Given the description of an element on the screen output the (x, y) to click on. 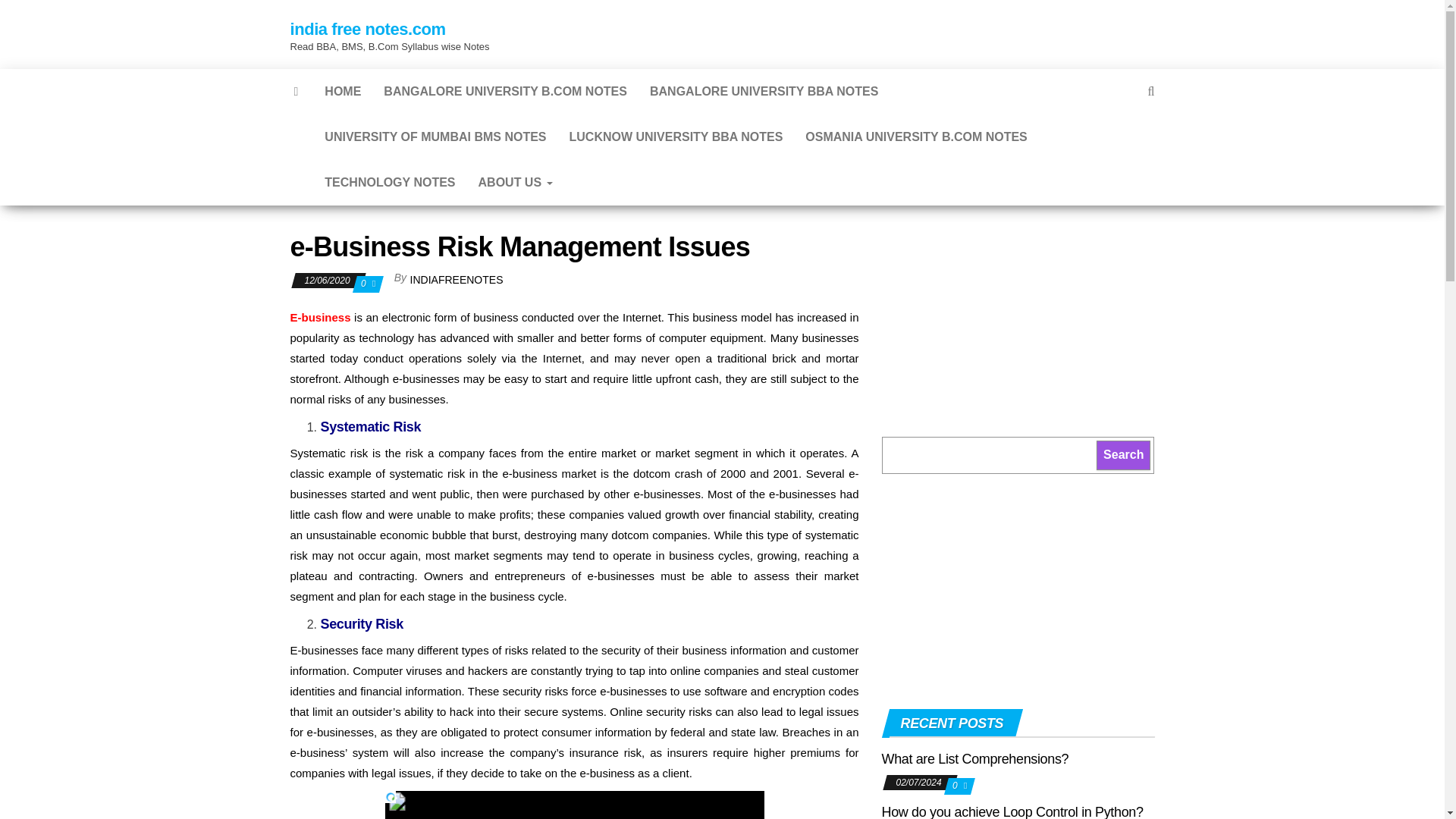
Bangalore University B.Com Notes (505, 91)
TECHNOLOGY NOTES (389, 182)
Bangalore University BBA Notes (764, 91)
HOME (342, 91)
BANGALORE UNIVERSITY B.COM NOTES (505, 91)
Technology Notes (389, 182)
Osmania University B.com Notes (915, 136)
INDIAFREENOTES (456, 279)
BANGALORE UNIVERSITY BBA NOTES (764, 91)
LUCKNOW UNIVERSITY BBA NOTES (675, 136)
OSMANIA UNIVERSITY B.COM NOTES (915, 136)
india free notes.com (367, 28)
Lucknow University BBA Notes (675, 136)
University of Mumbai BMS Notes (435, 136)
ABOUT US (515, 182)
